Given the description of an element on the screen output the (x, y) to click on. 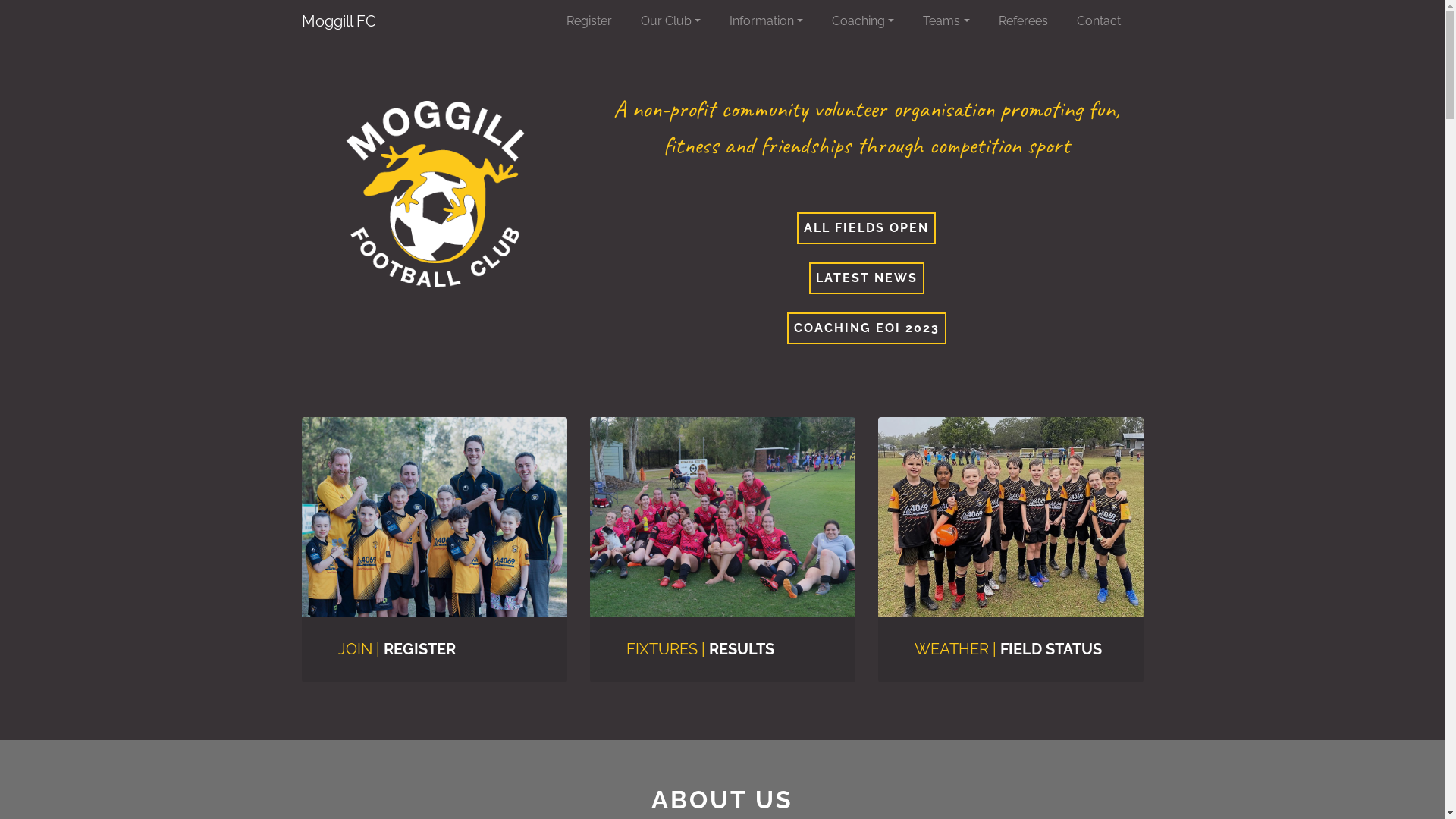
Register Element type: text (597, 21)
Moggill FC Element type: text (338, 21)
Teams Element type: text (953, 21)
Contact Element type: text (1106, 21)
Referees Element type: text (1030, 21)
ALL FIELDS OPEN Element type: text (865, 227)
COACHING EOI 2023 Element type: text (865, 327)
LATEST NEWS Element type: text (866, 277)
Our Club Element type: text (678, 21)
Coaching Element type: text (870, 21)
Information Element type: text (774, 21)
